Given the description of an element on the screen output the (x, y) to click on. 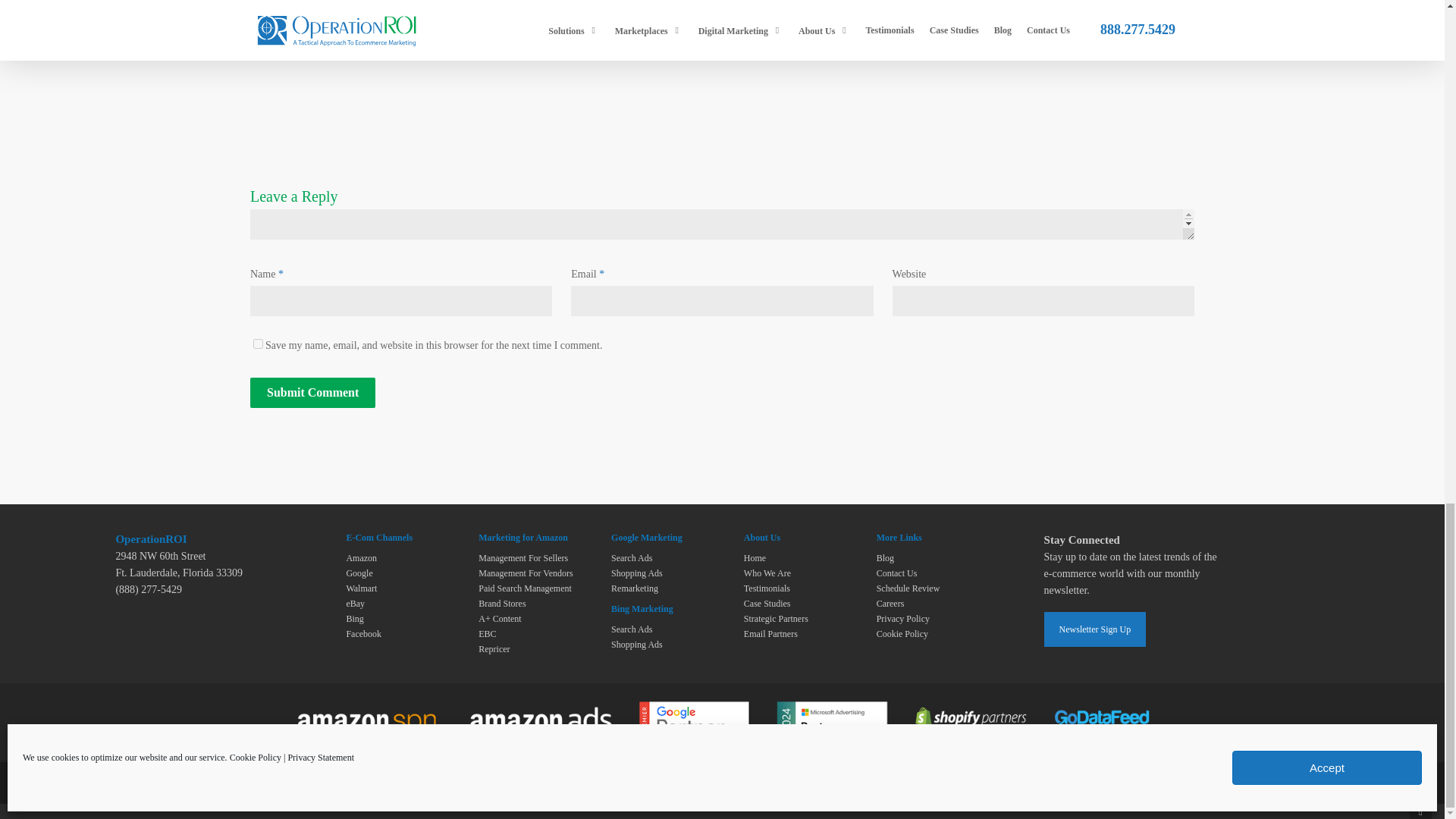
OpertaionROI is part of the Amazon Service Provider Network (386, 734)
Submit Comment (312, 392)
OperationROI is a GoDataFeed Agency Partner (1114, 731)
OpertaionROI is an Amazon Advertising Partner (557, 734)
yes (258, 343)
E-commerce Newsletter Sign Up (1095, 629)
OperationROI is a Shopify Partner (984, 731)
OpertaionROI is a Microsoft Bing Partner (847, 731)
OpertaionROI is a Premier Google Partner (708, 731)
